Given the description of an element on the screen output the (x, y) to click on. 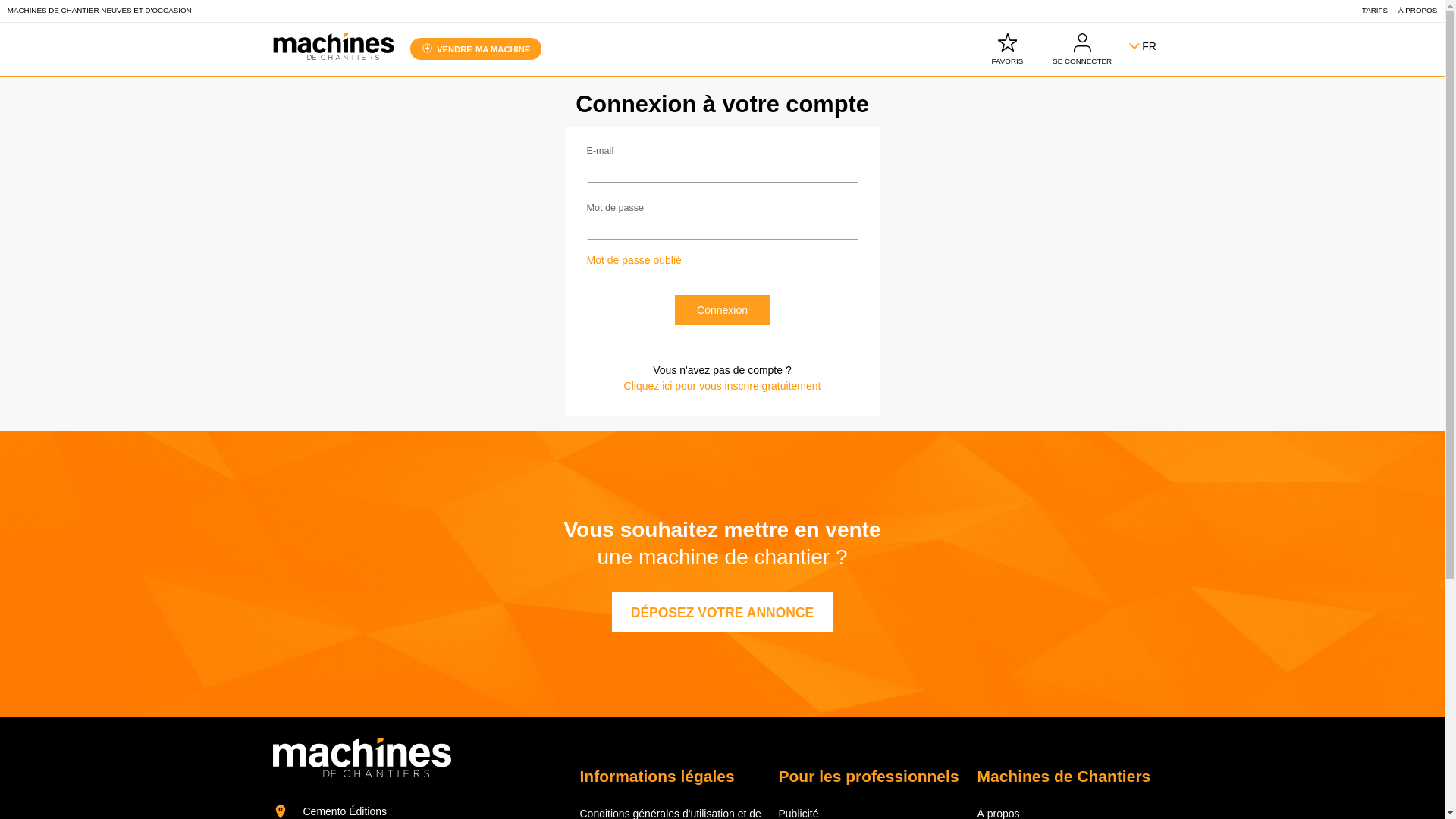
SE CONNECTER Element type: text (1082, 49)
TARIFS Element type: text (1374, 10)
FAVORIS Element type: text (1007, 49)
Machines de Chantiers Element type: text (333, 56)
Connexion Element type: text (721, 309)
VENDRE
MA MACHINE Element type: text (475, 48)
FR Element type: text (1149, 49)
Cliquez ici pour vous inscrire gratuitement Element type: text (722, 386)
